Given the description of an element on the screen output the (x, y) to click on. 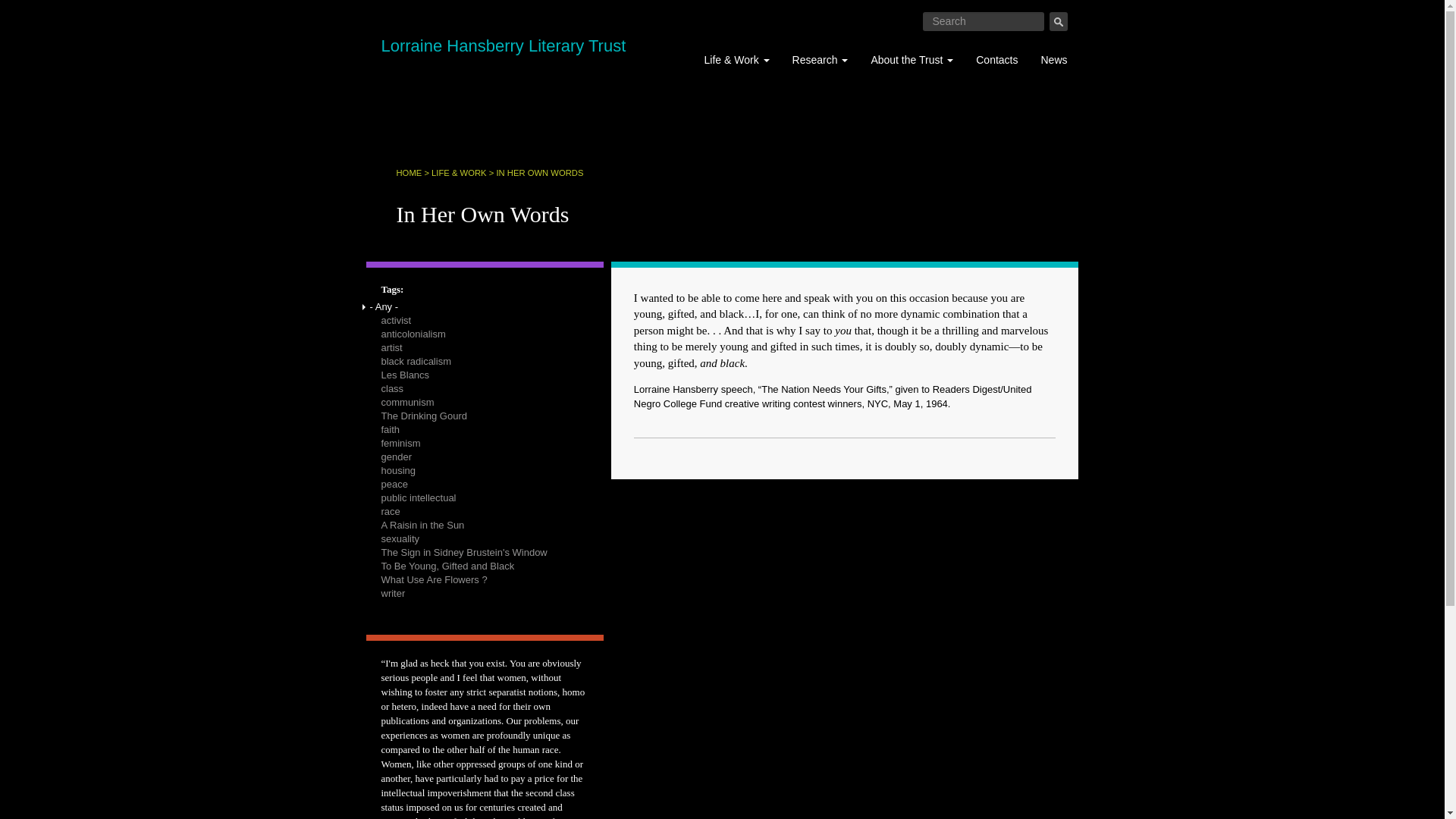
News (1053, 59)
news (1053, 59)
class (391, 388)
black radicalism (416, 360)
Research (820, 59)
Les Blancs (405, 374)
HOME (409, 172)
artist (391, 347)
About the Trust (911, 59)
- Any - (383, 306)
